Given the description of an element on the screen output the (x, y) to click on. 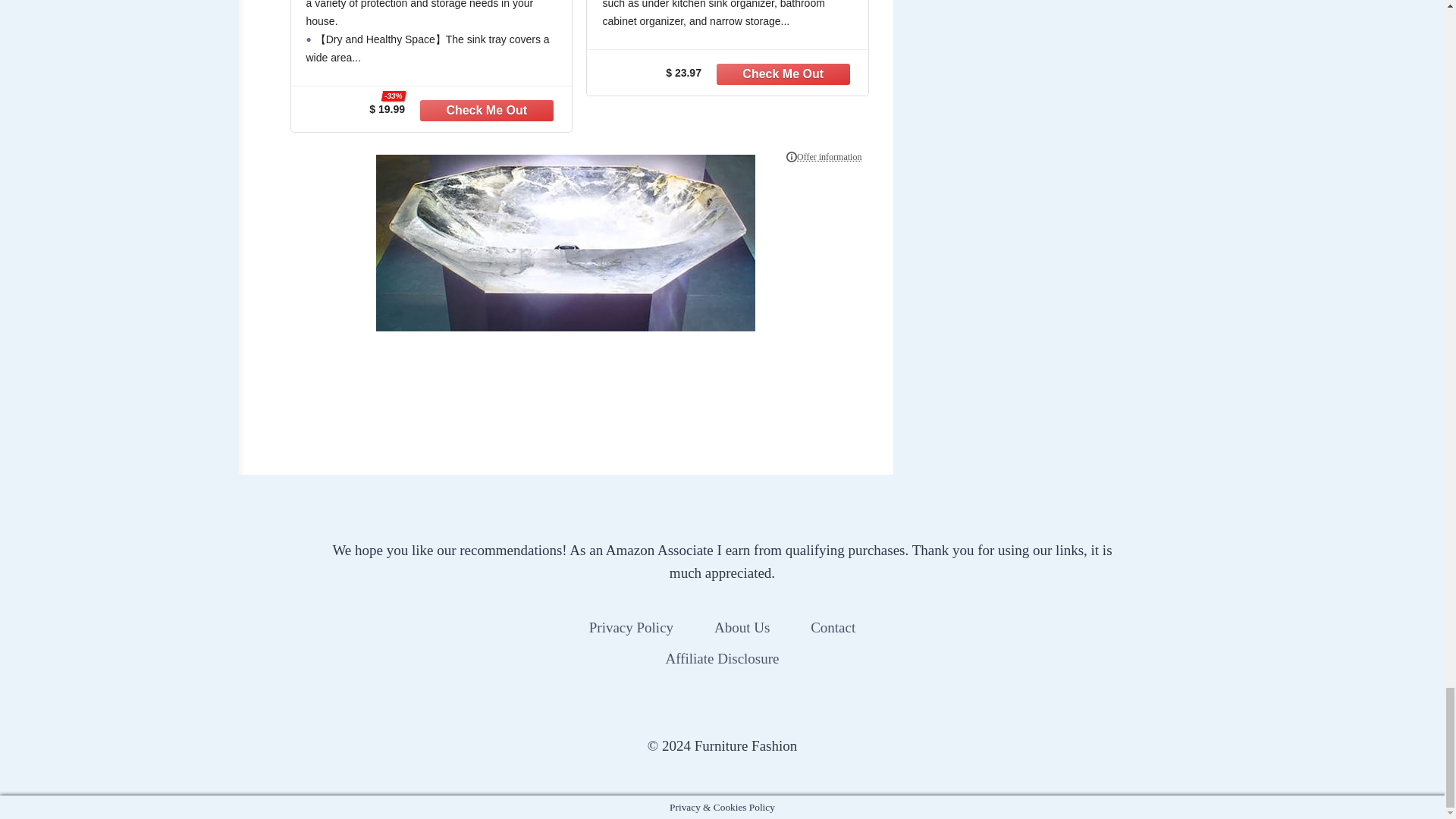
Crystal Rock Sink by High Touch (565, 242)
